Given the description of an element on the screen output the (x, y) to click on. 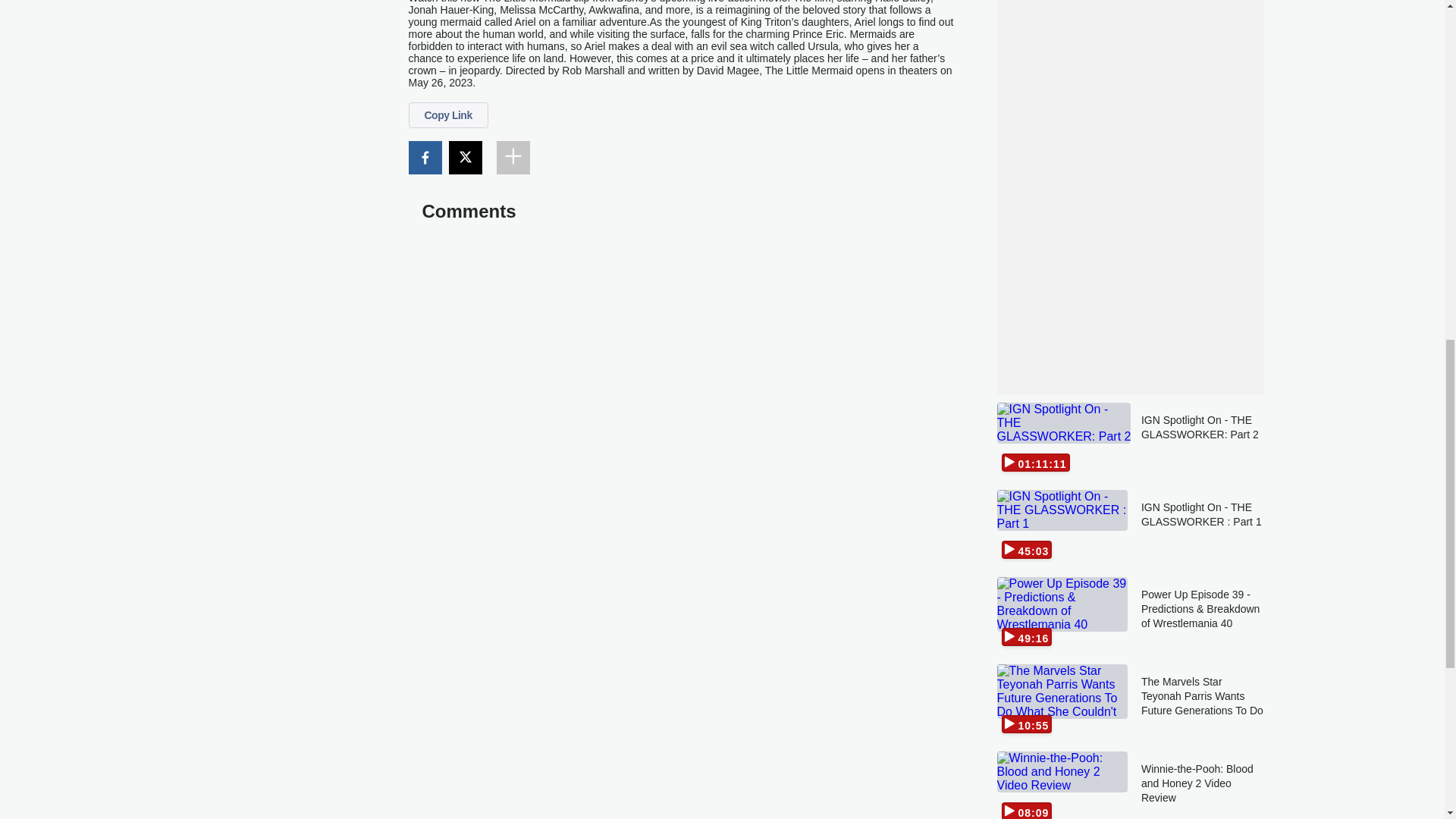
01:11:11 (1060, 438)
IGN Spotlight On - THE GLASSWORKER : Part 1 (1202, 526)
45:03 (1060, 526)
Copy Link (447, 114)
IGN Spotlight On - THE GLASSWORKER: Part 2 (1202, 438)
